Given the description of an element on the screen output the (x, y) to click on. 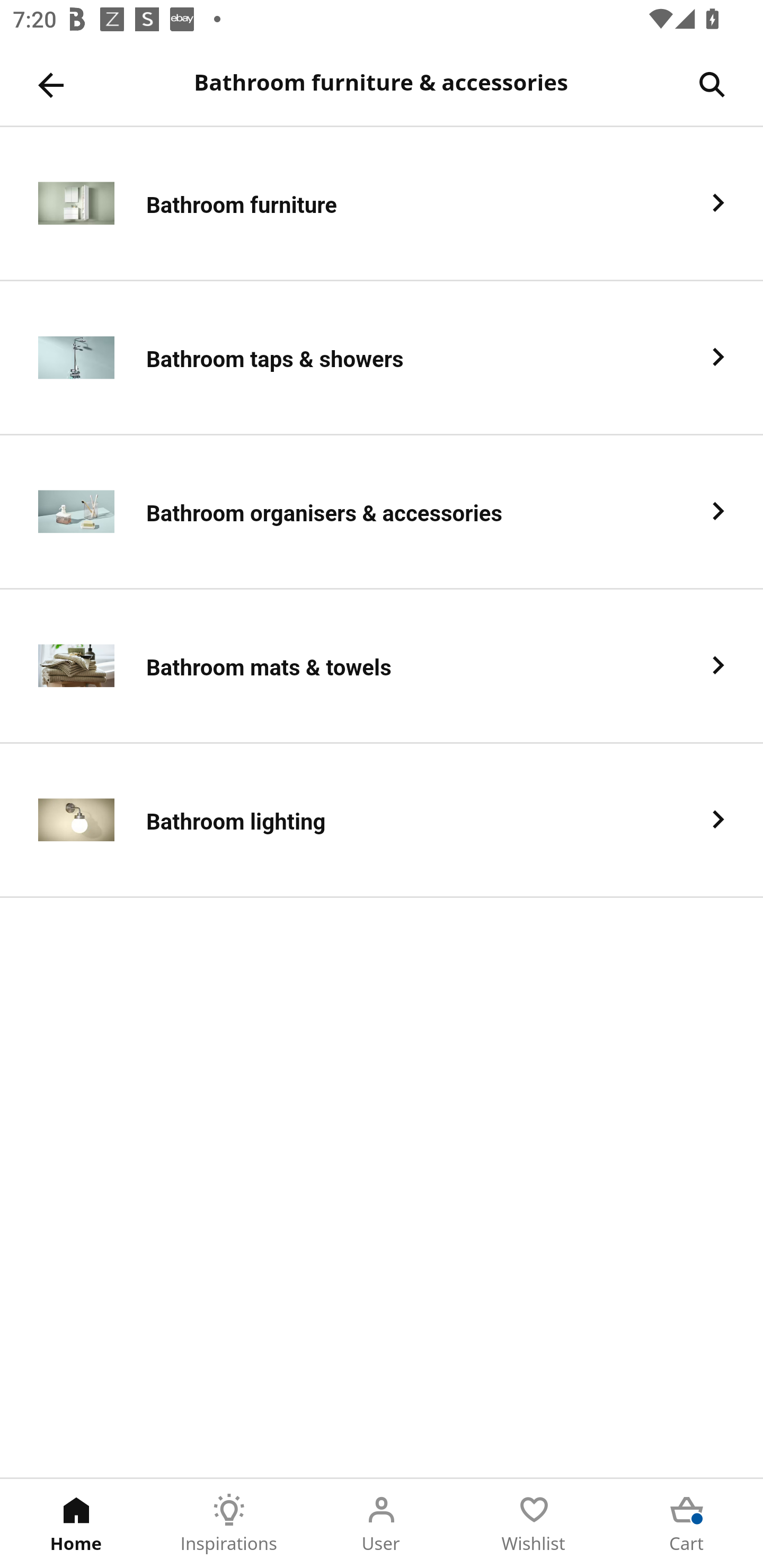
Bathroom furniture (381, 203)
Bathroom taps & showers (381, 357)
Bathroom organisers & accessories (381, 512)
Bathroom mats & towels (381, 666)
Bathroom lighting (381, 820)
Home
Tab 1 of 5 (76, 1522)
Inspirations
Tab 2 of 5 (228, 1522)
User
Tab 3 of 5 (381, 1522)
Wishlist
Tab 4 of 5 (533, 1522)
Cart
Tab 5 of 5 (686, 1522)
